Given the description of an element on the screen output the (x, y) to click on. 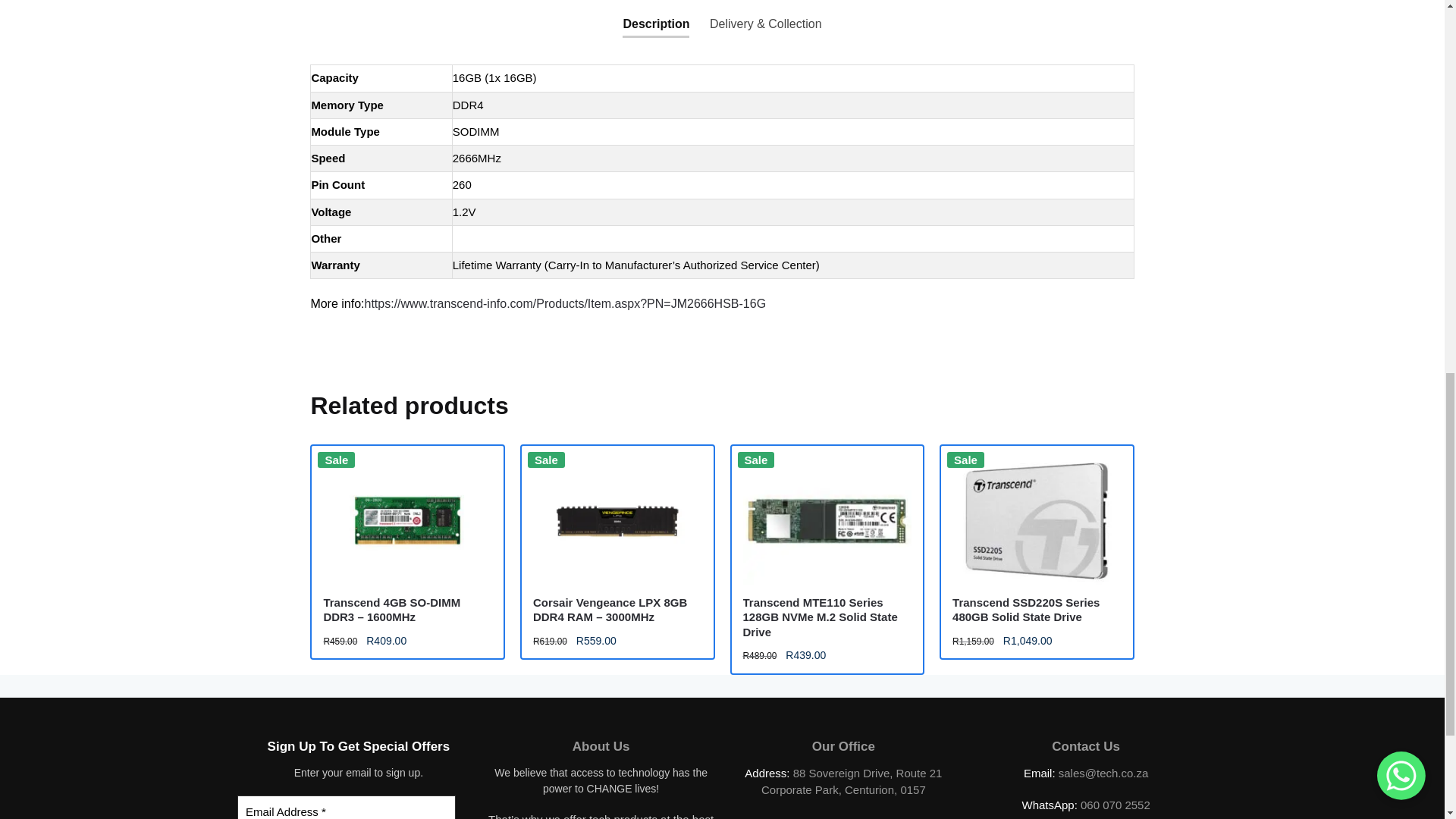
Email Address (346, 807)
Transcend SSD220S Series 480GB Solid State Drive (1036, 520)
Transcend MTE110 Series 128GB NVMe M.2 Solid State Drive (827, 520)
